Given the description of an element on the screen output the (x, y) to click on. 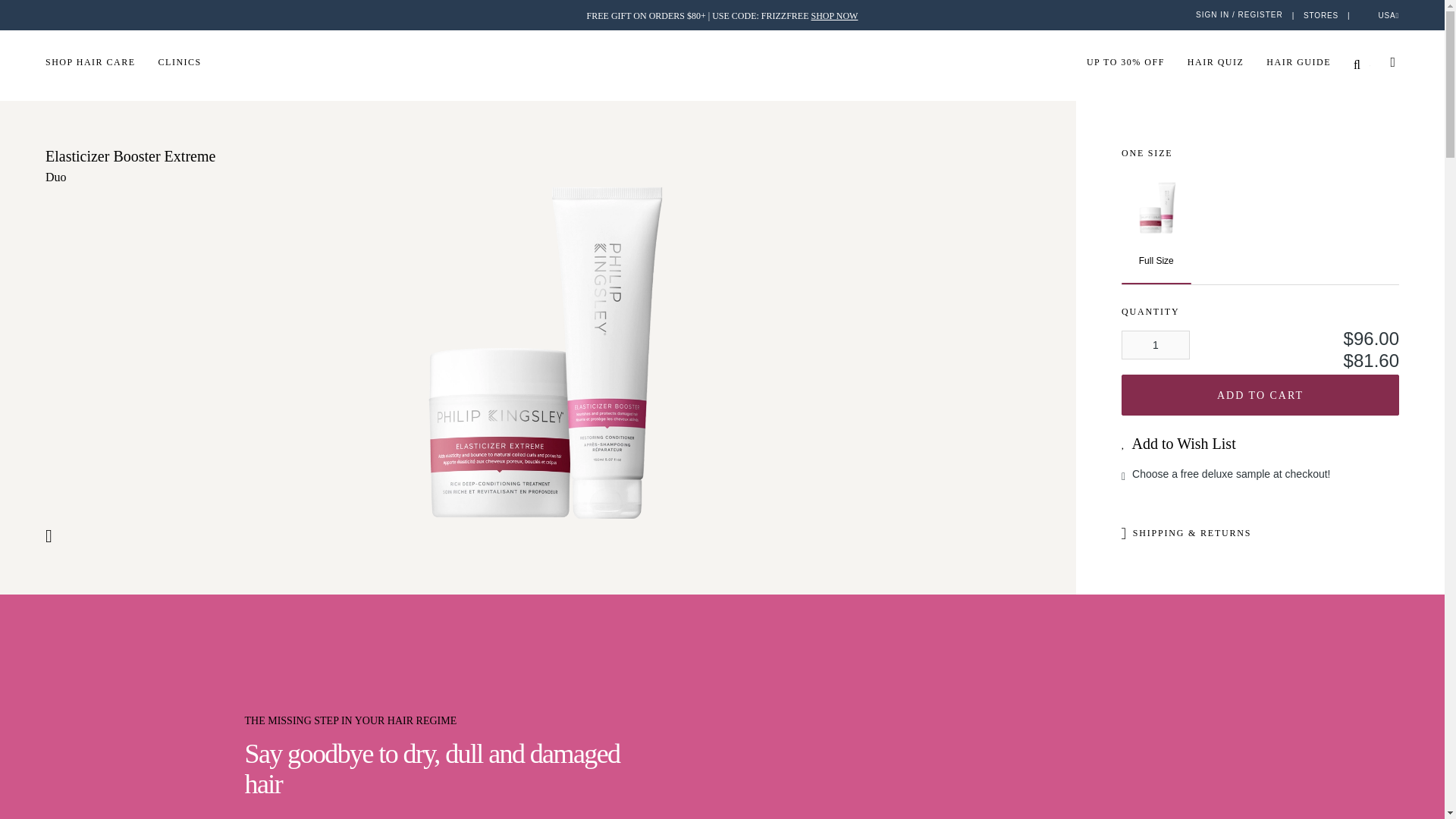
1 (1155, 344)
STORES (1320, 14)
SHOP HAIR CARE (101, 61)
Shop Now (722, 15)
